Given the description of an element on the screen output the (x, y) to click on. 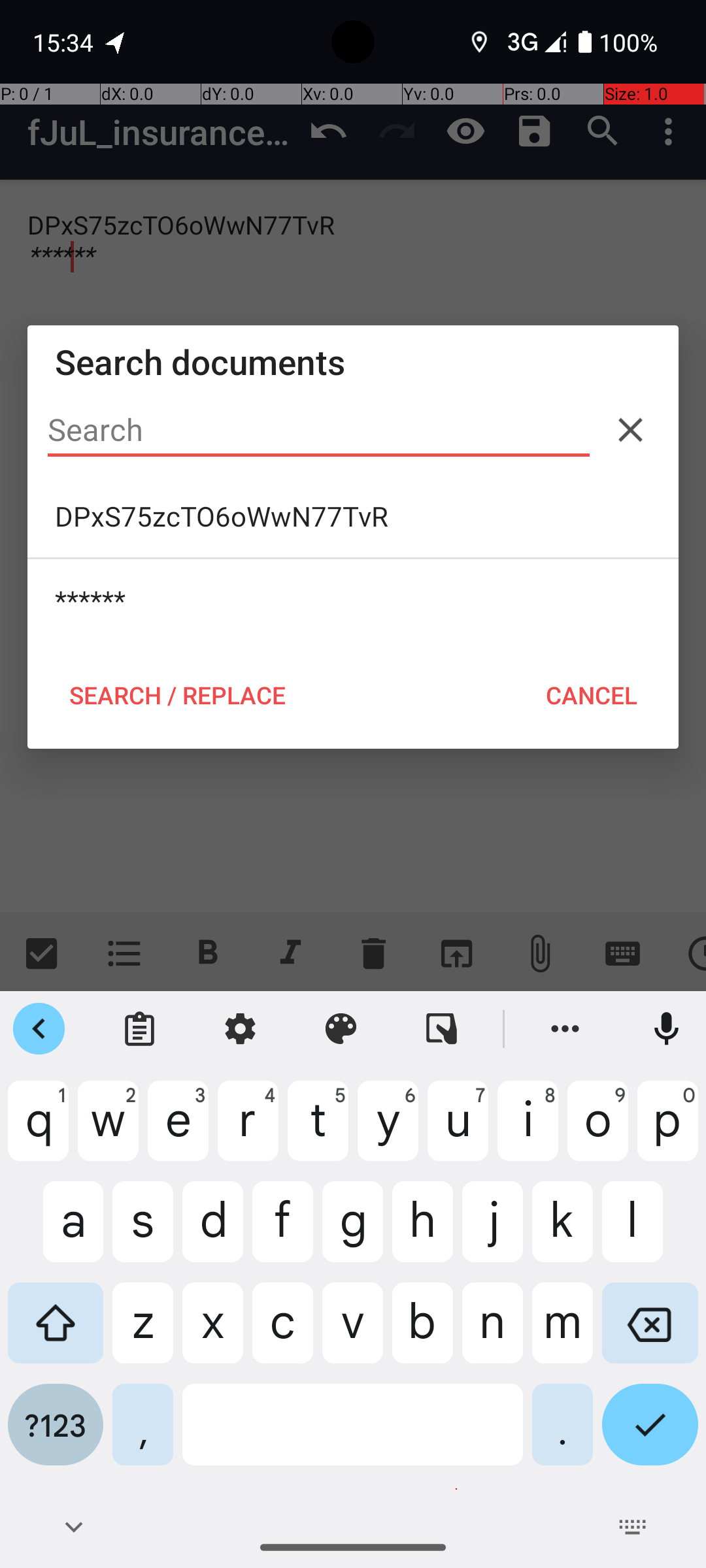
Search documents Element type: android.widget.TextView (352, 361)
DPxS75zcTO6oWwN77TvR Element type: android.widget.TextView (352, 515)
****** Element type: android.widget.TextView (352, 600)
SEARCH / REPLACE Element type: android.widget.Button (176, 694)
Theme settings Element type: android.widget.FrameLayout (340, 1028)
One handed mode Element type: android.widget.FrameLayout (441, 1028)
